Given the description of an element on the screen output the (x, y) to click on. 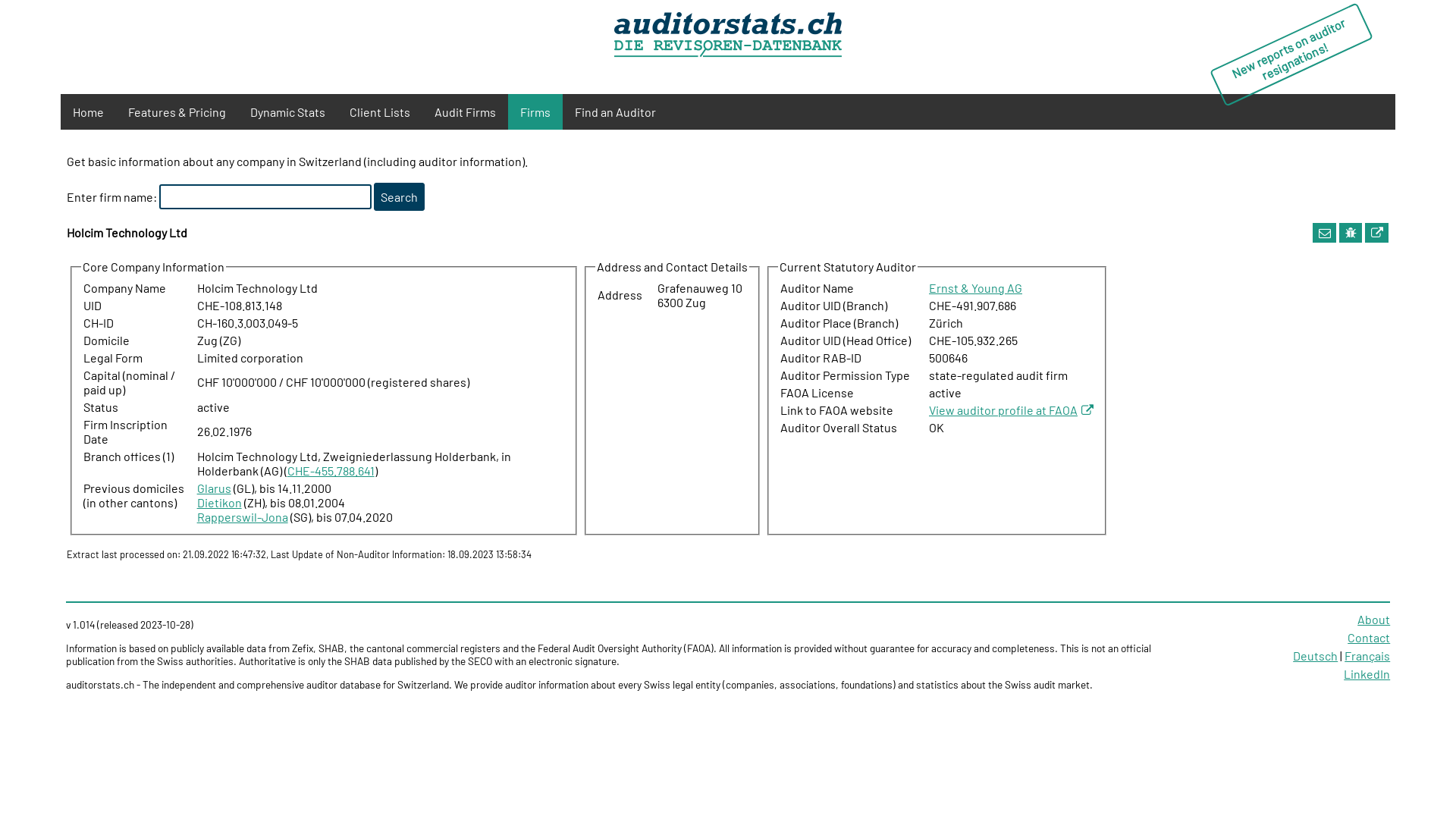
Client Lists Element type: text (379, 111)
CHE-455.788.641 Element type: text (330, 470)
Share link Element type: hover (1324, 232)
About Element type: text (1373, 618)
LinkedIn Element type: text (1366, 673)
Dietikon Element type: text (219, 502)
Firms Element type: text (535, 111)
Search Element type: text (398, 196)
Rapperswil-Jona Element type: text (242, 516)
Glarus Element type: text (214, 487)
New reports on auditor resignations! Element type: text (1290, 29)
Report an error Element type: hover (1351, 232)
Ernst & Young AG Element type: text (975, 287)
Deutsch Element type: text (1314, 655)
Contact Element type: text (1368, 637)
View auditor profile at FAOA Element type: text (1010, 409)
Home Element type: text (88, 111)
Features & Pricing Element type: text (177, 111)
Audit Firms Element type: text (465, 111)
Find an Auditor Element type: text (615, 111)
Dynamic Stats Element type: text (287, 111)
